Given the description of an element on the screen output the (x, y) to click on. 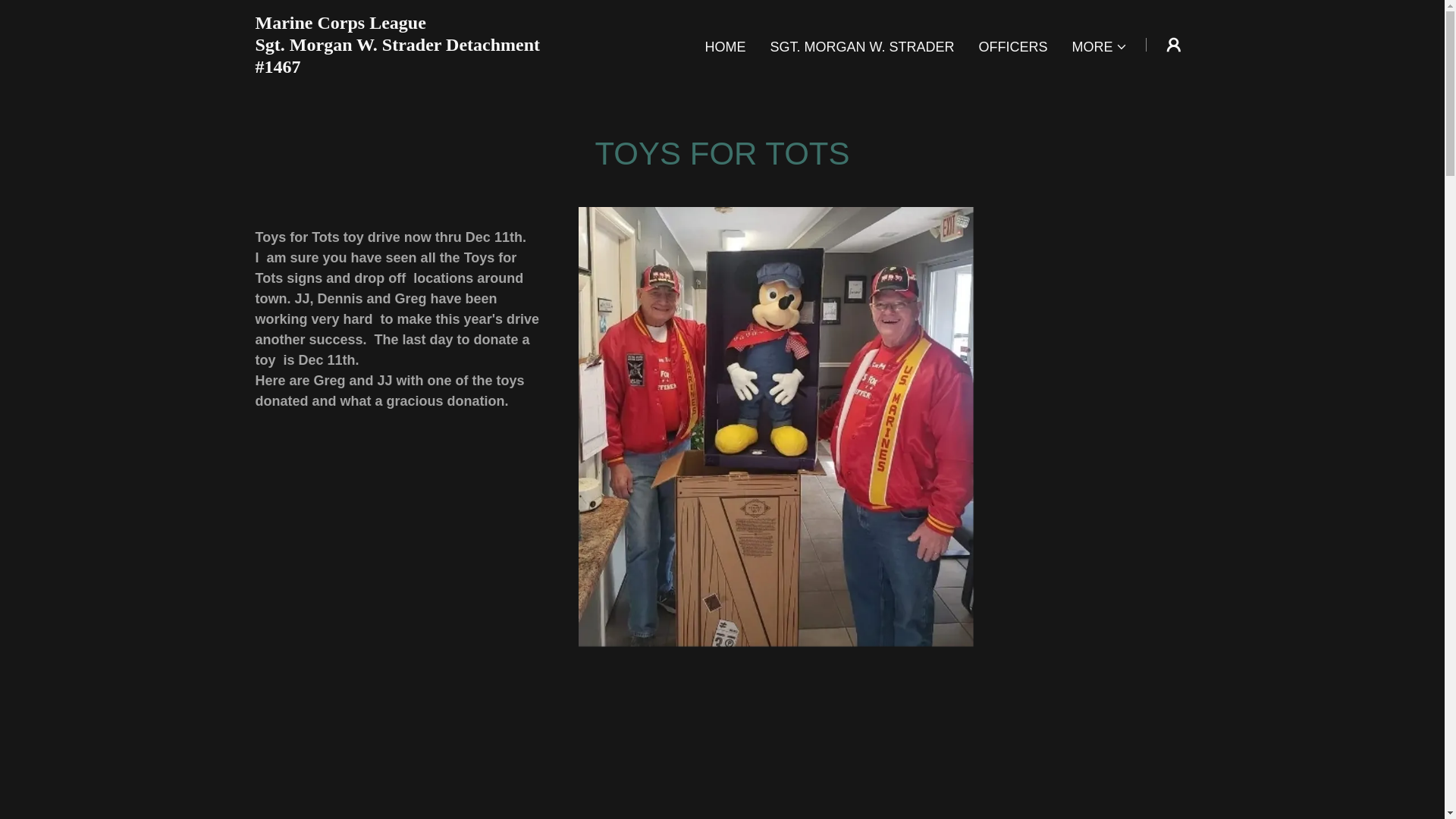
SGT. MORGAN W. STRADER (861, 46)
HOME (724, 46)
MORE (1098, 46)
OFFICERS (1012, 46)
